Given the description of an element on the screen output the (x, y) to click on. 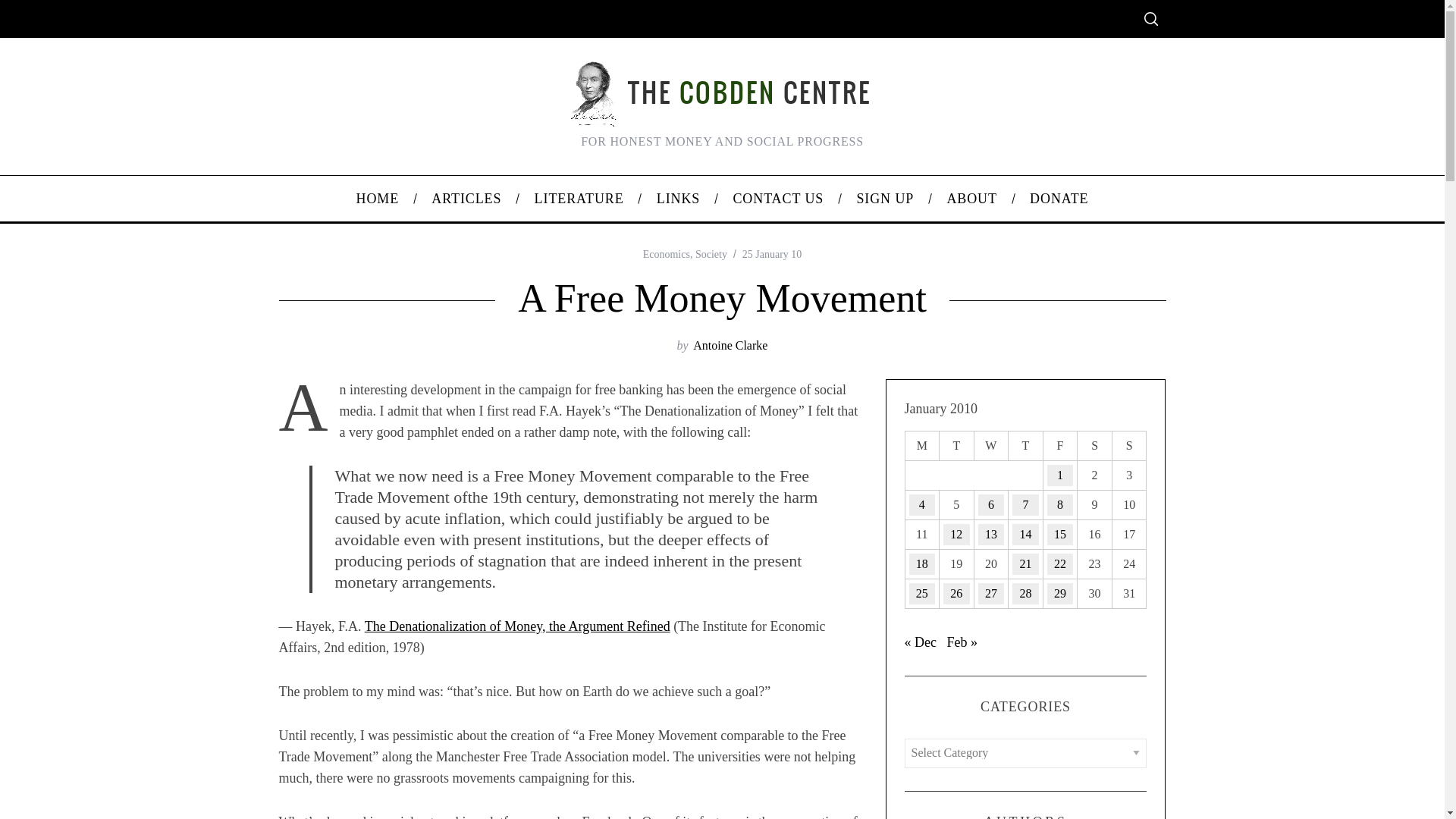
Thursday (1026, 445)
Antoine Clarke (730, 345)
DONATE (1059, 198)
Economics (666, 254)
The Denationalization of Money, the Argument Refined (517, 626)
ABOUT (971, 198)
CONTACT US (778, 198)
Friday (1059, 445)
Wednesday (991, 445)
LINKS (678, 198)
